Given the description of an element on the screen output the (x, y) to click on. 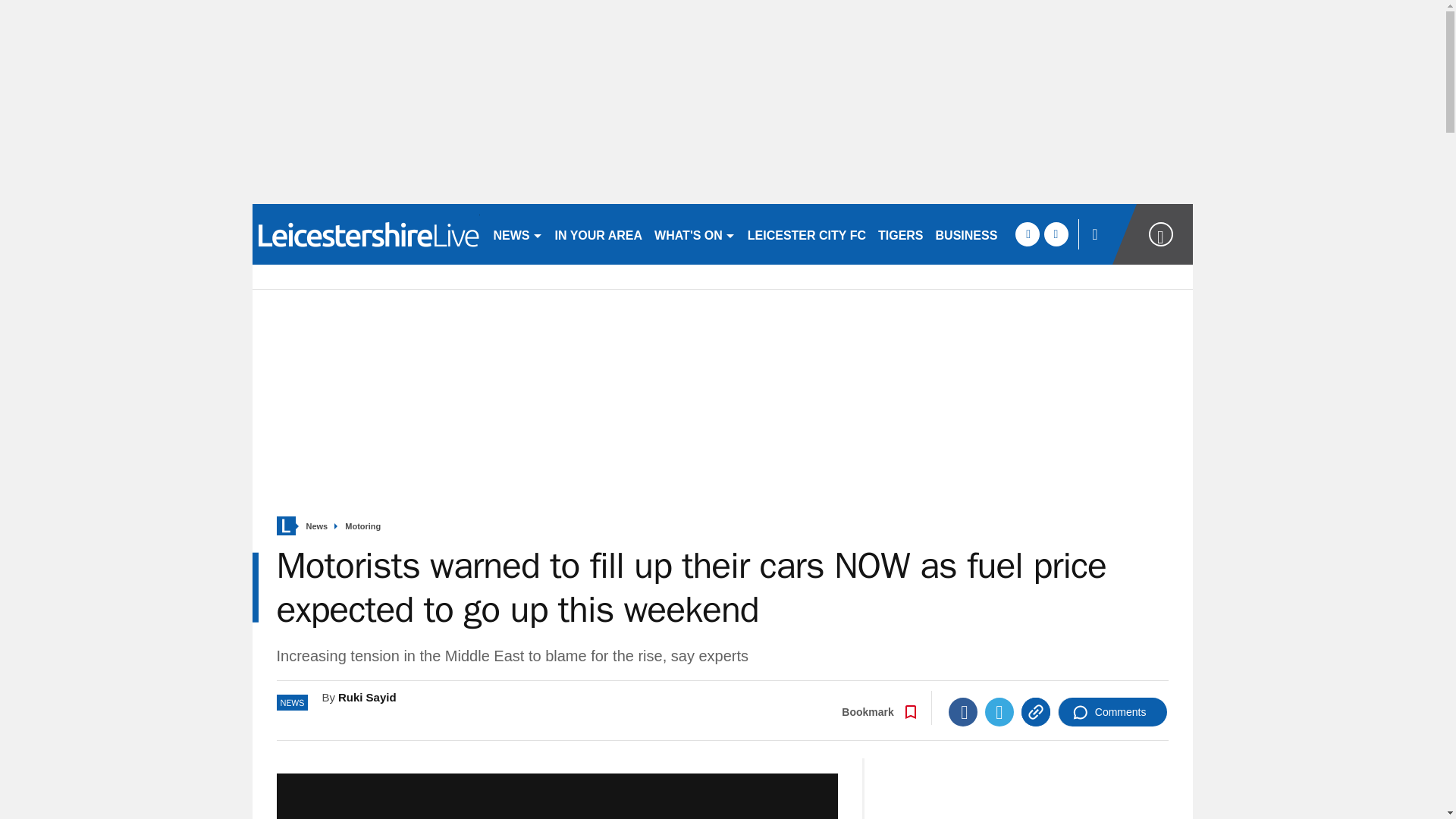
facebook (1026, 233)
Comments (1112, 711)
Twitter (999, 711)
BUSINESS (967, 233)
NEWS (517, 233)
twitter (1055, 233)
LEICESTER CITY FC (806, 233)
leicestermercury (365, 233)
Facebook (962, 711)
TIGERS (901, 233)
